Given the description of an element on the screen output the (x, y) to click on. 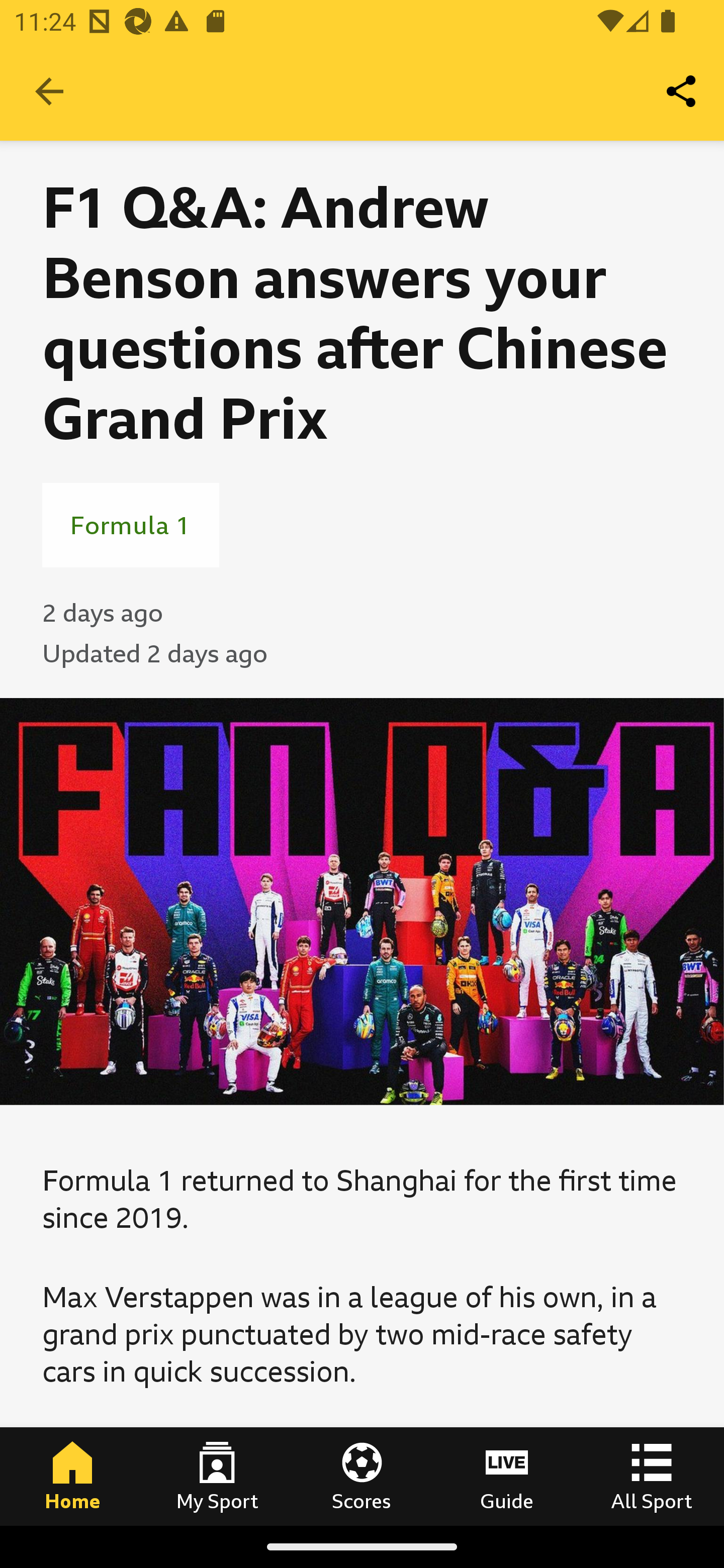
Navigate up (49, 91)
Share (681, 90)
Formula 1 (130, 524)
My Sport (216, 1475)
Scores (361, 1475)
Guide (506, 1475)
All Sport (651, 1475)
